Given the description of an element on the screen output the (x, y) to click on. 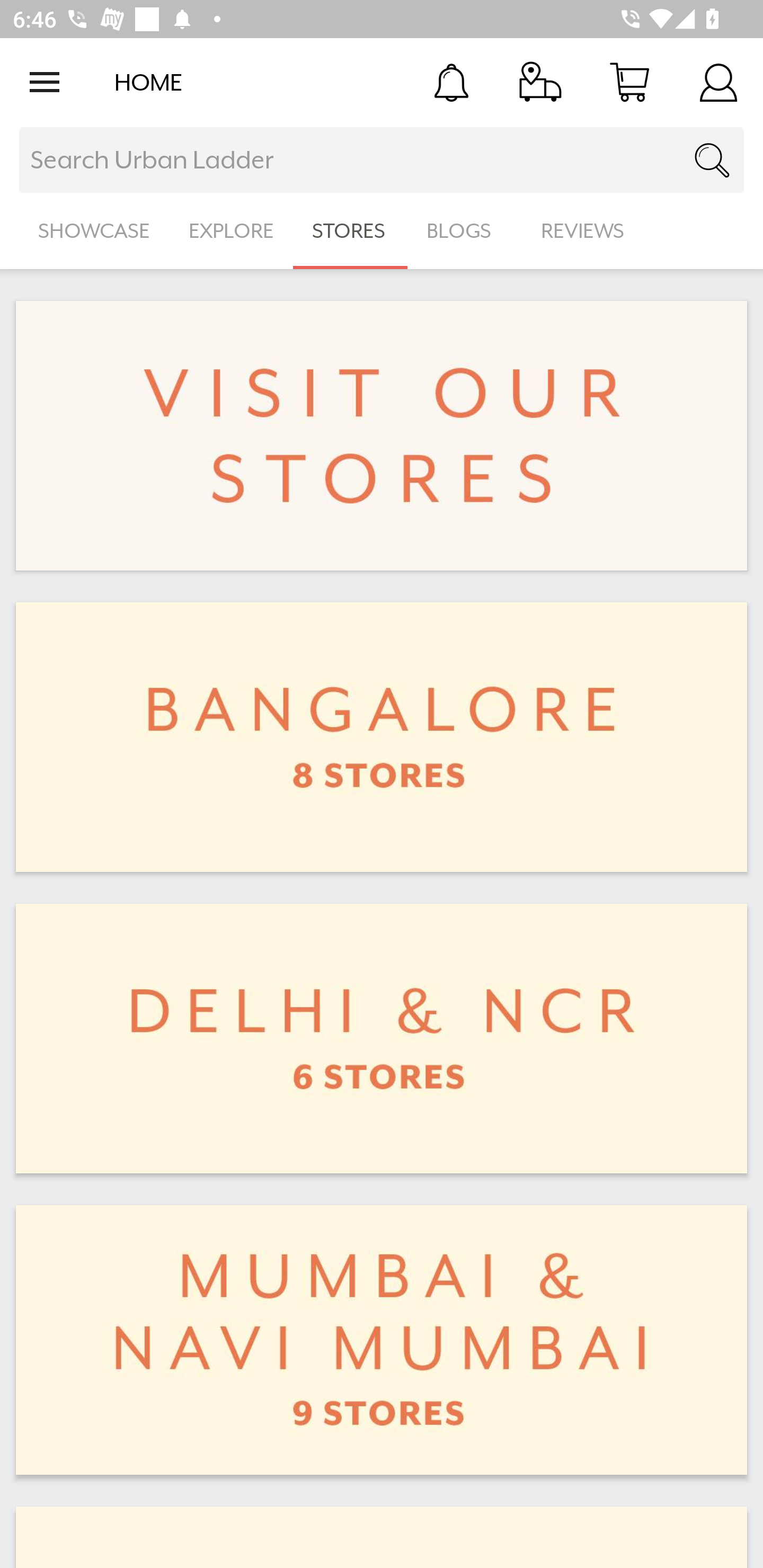
Open navigation drawer (44, 82)
Notification (450, 81)
Track Order (540, 81)
Cart (629, 81)
Account Details (718, 81)
Search Urban Ladder  (381, 159)
SHOWCASE (94, 230)
EXPLORE (230, 230)
STORES (349, 230)
BLOGS (464, 230)
REVIEWS (582, 230)
